Given the description of an element on the screen output the (x, y) to click on. 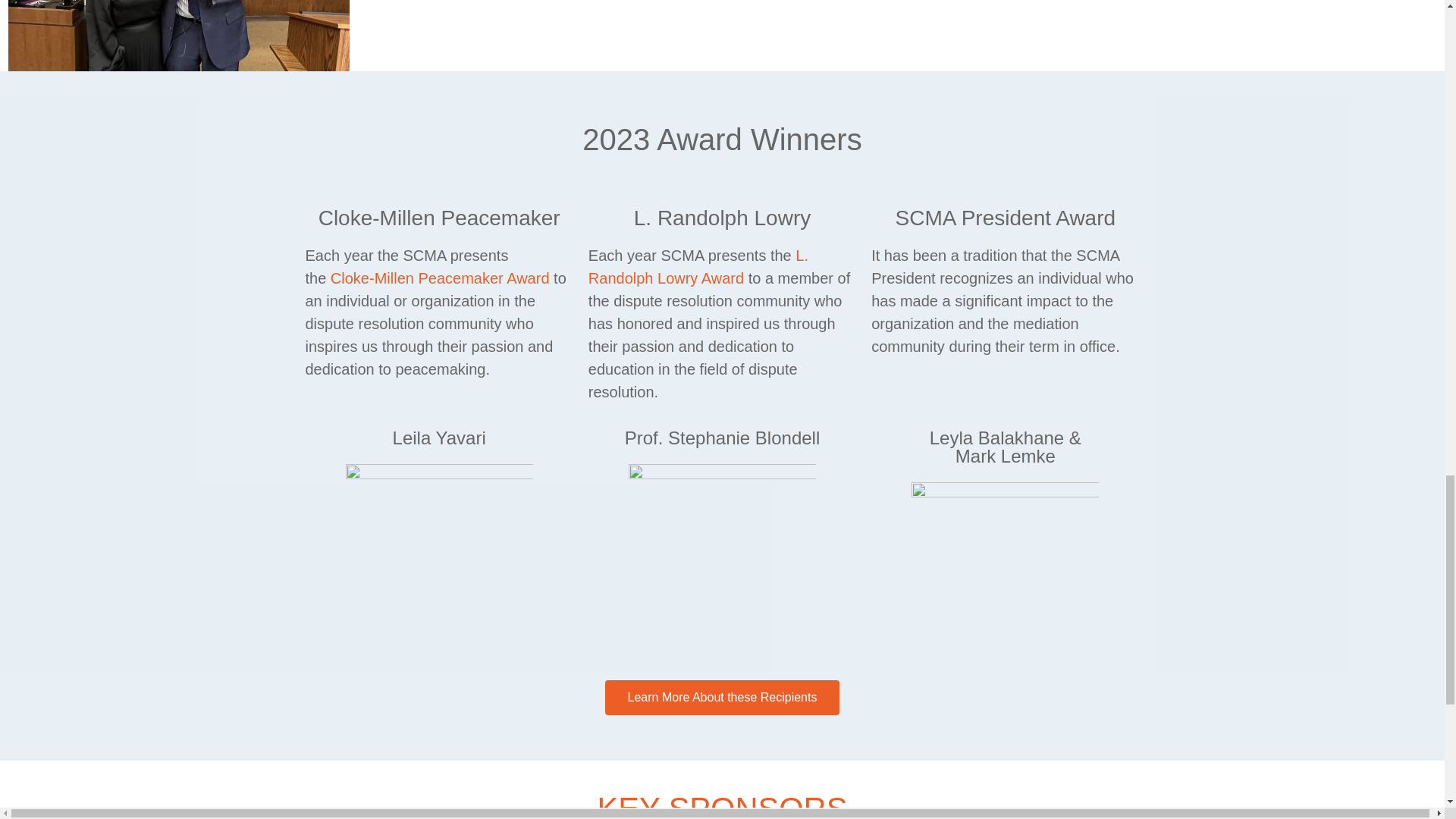
Cloke-Millen Peacemaker Award (440, 278)
Learn More About these Recipients (722, 697)
L. Randolph Lowry Award (698, 266)
